Given the description of an element on the screen output the (x, y) to click on. 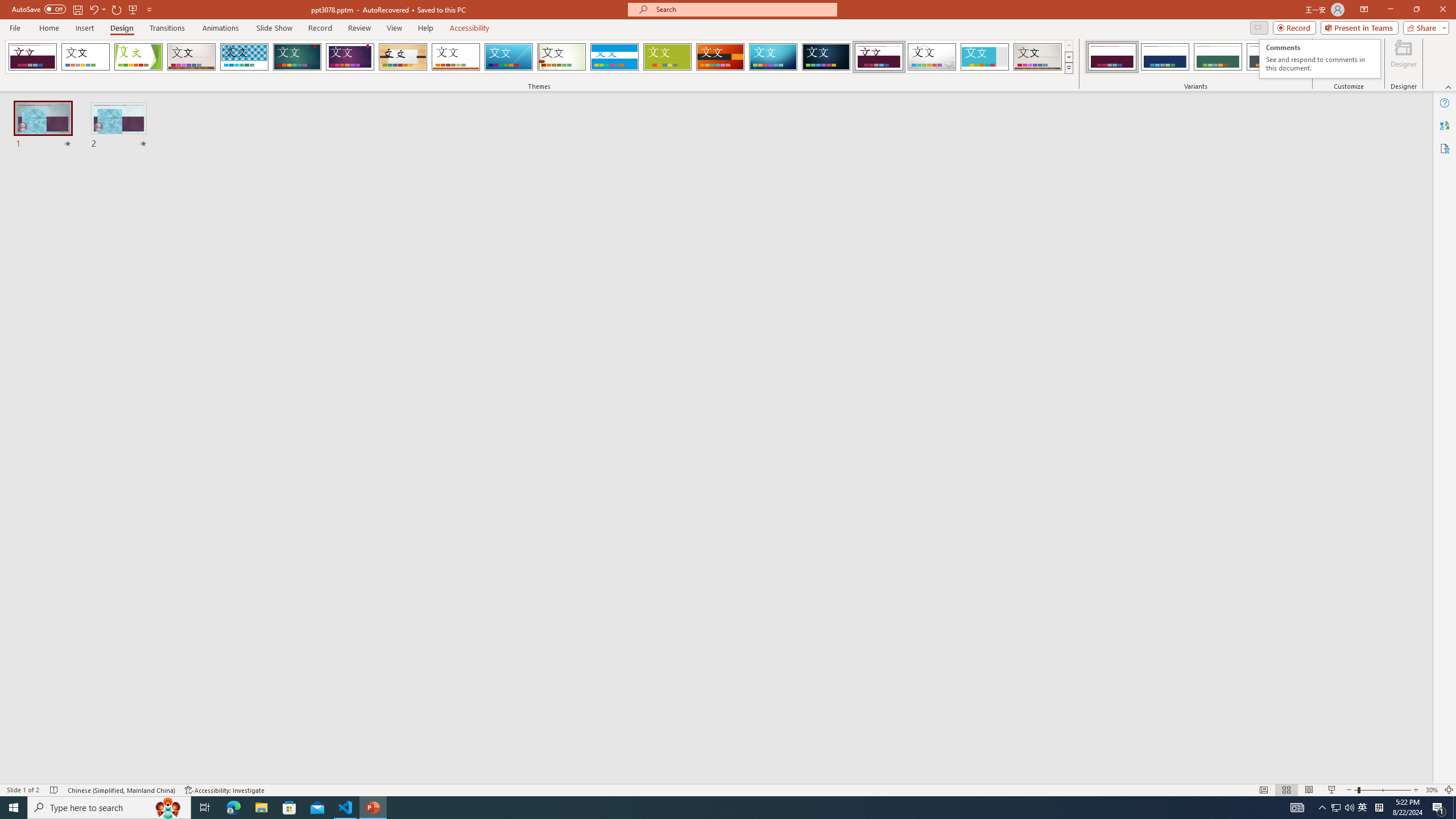
Frame (984, 56)
Circuit (772, 56)
